Given the description of an element on the screen output the (x, y) to click on. 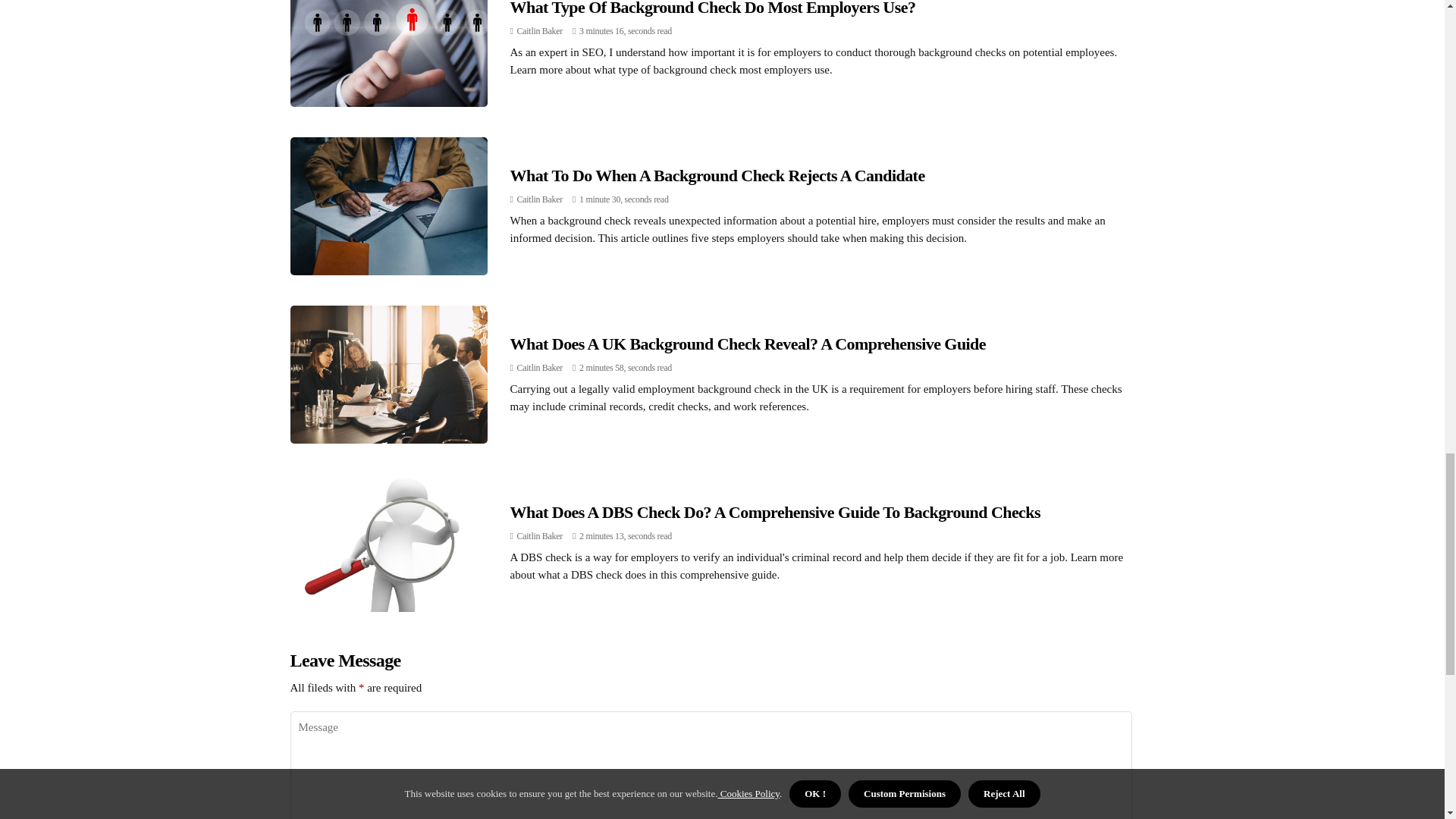
Caitlin Baker (539, 367)
Posts by Caitlin Baker (539, 535)
Caitlin Baker (539, 535)
Caitlin Baker (539, 30)
What Type Of Background Check Do Most Employers Use? (712, 8)
What To Do When A Background Check Rejects A Candidate (716, 175)
Posts by Caitlin Baker (539, 367)
Posts by Caitlin Baker (539, 199)
Caitlin Baker (539, 199)
Posts by Caitlin Baker (539, 30)
